Given the description of an element on the screen output the (x, y) to click on. 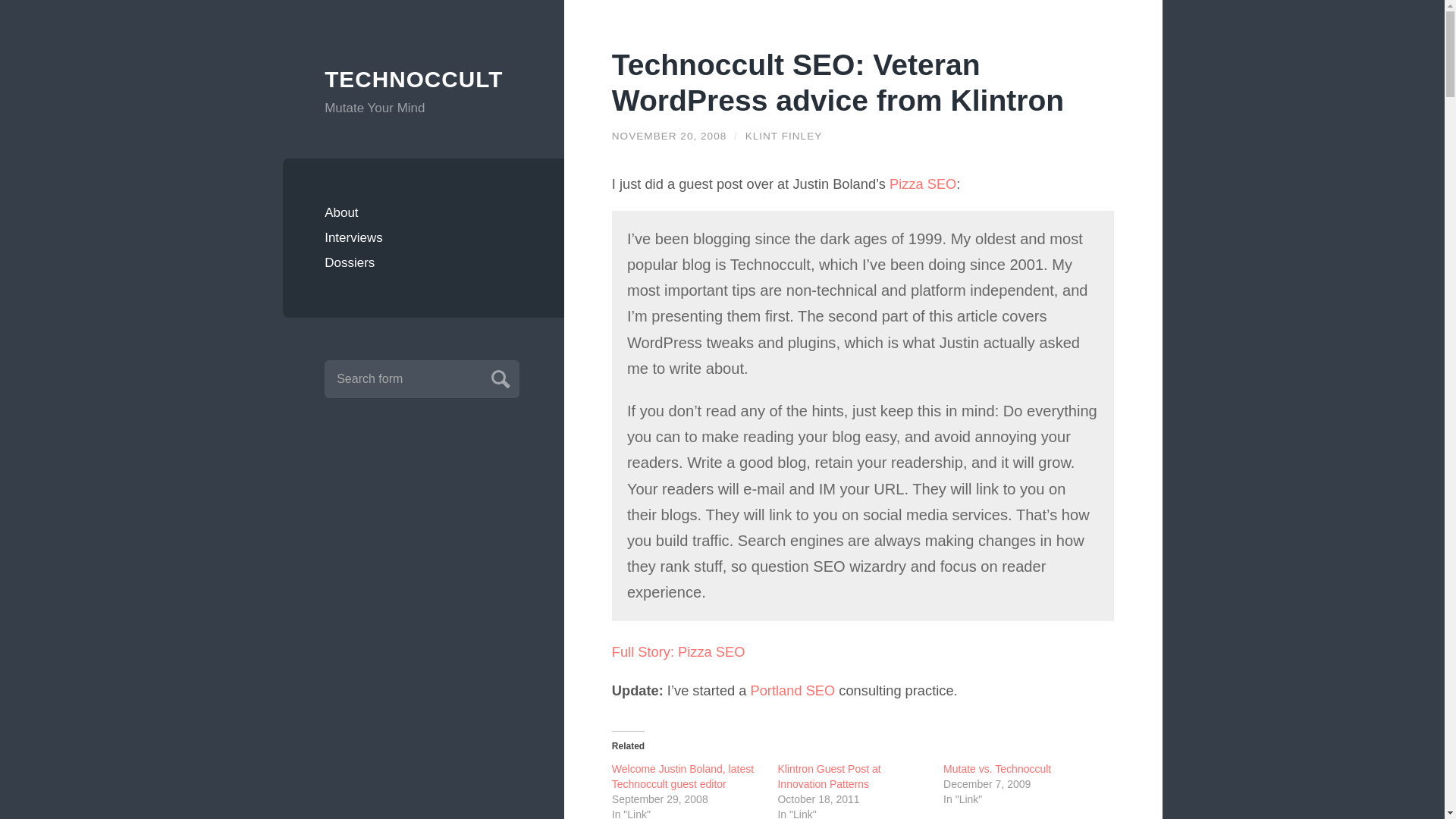
Mutate vs. Technoccult (997, 768)
Technoccult SEO: Veteran WordPress advice from Klintron (837, 82)
Welcome Justin Boland, latest Technoccult guest editor (682, 776)
Pizza SEO (922, 183)
Technoccult SEO: Veteran WordPress advice from Klintron (837, 82)
Search (498, 377)
NOVEMBER 20, 2008 (668, 135)
Posts by Klint Finley (783, 135)
Klintron Guest Post at Innovation Patterns (828, 776)
Full Story: Pizza SEO (678, 651)
Submit (498, 377)
About (422, 212)
Welcome Justin Boland, latest Technoccult guest editor (682, 776)
Interviews (422, 237)
Dossiers (422, 262)
